Given the description of an element on the screen output the (x, y) to click on. 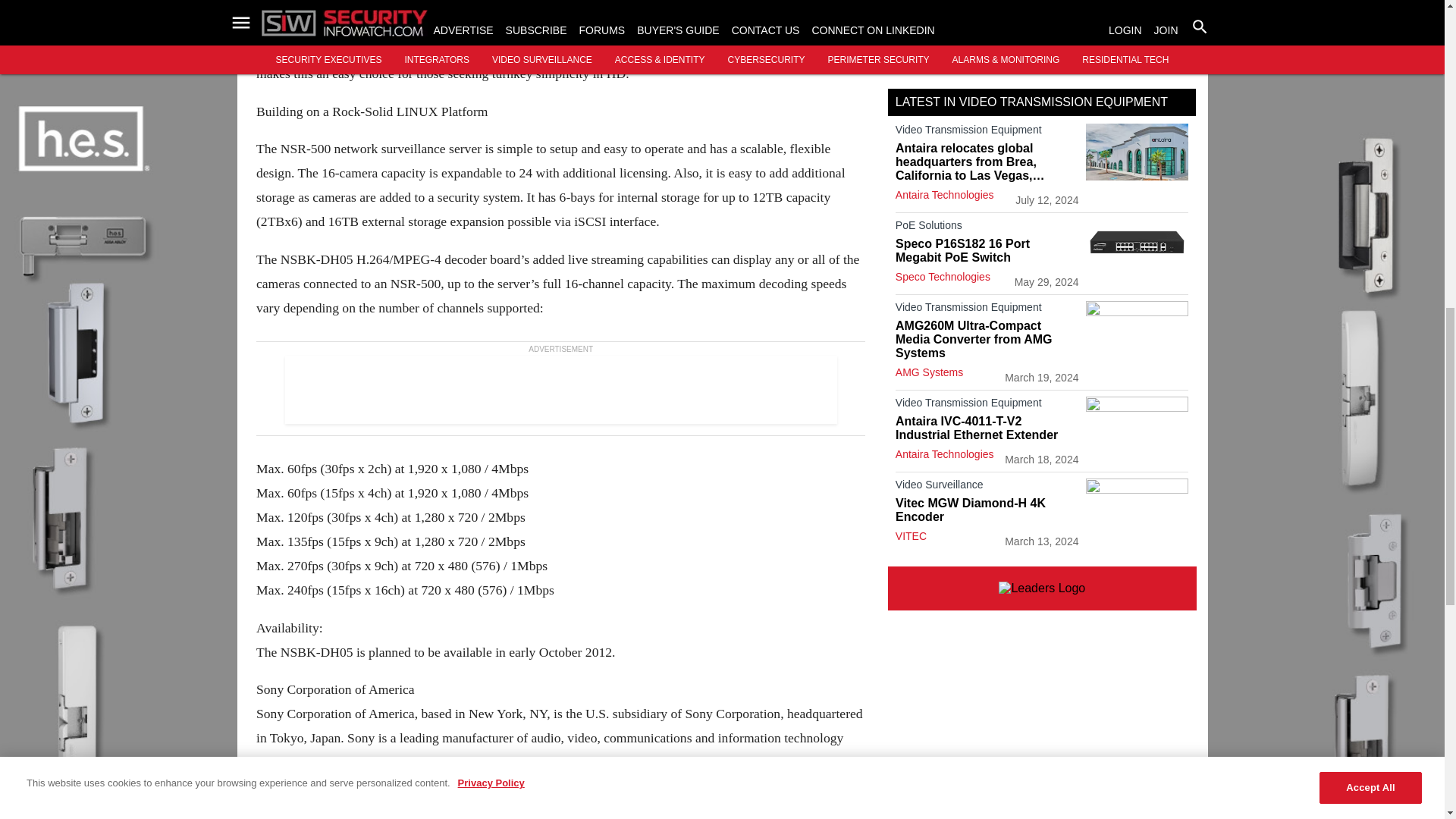
3rd party ad content (1042, 34)
3rd party ad content (559, 388)
